Given the description of an element on the screen output the (x, y) to click on. 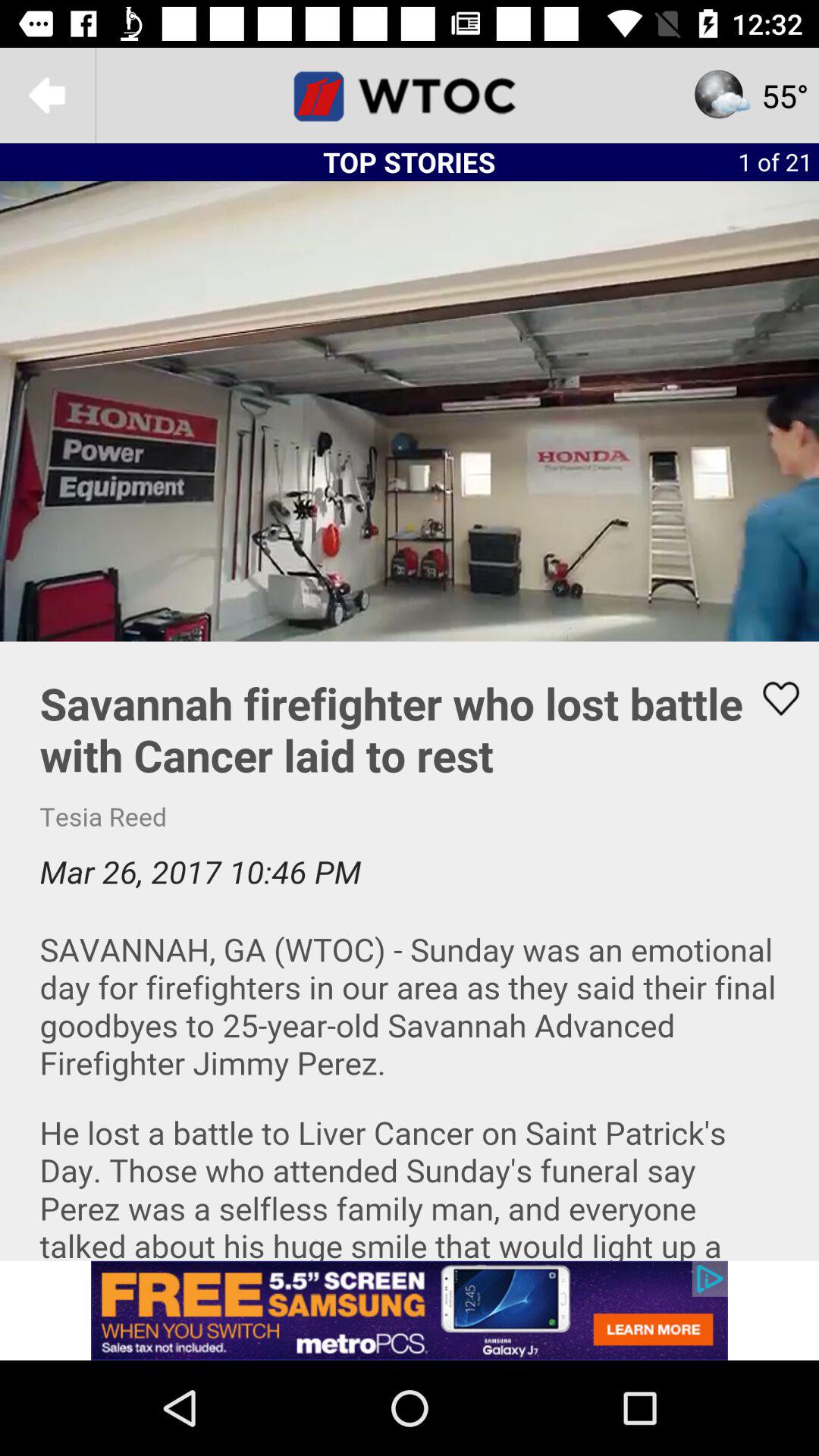
share image (771, 698)
